Given the description of an element on the screen output the (x, y) to click on. 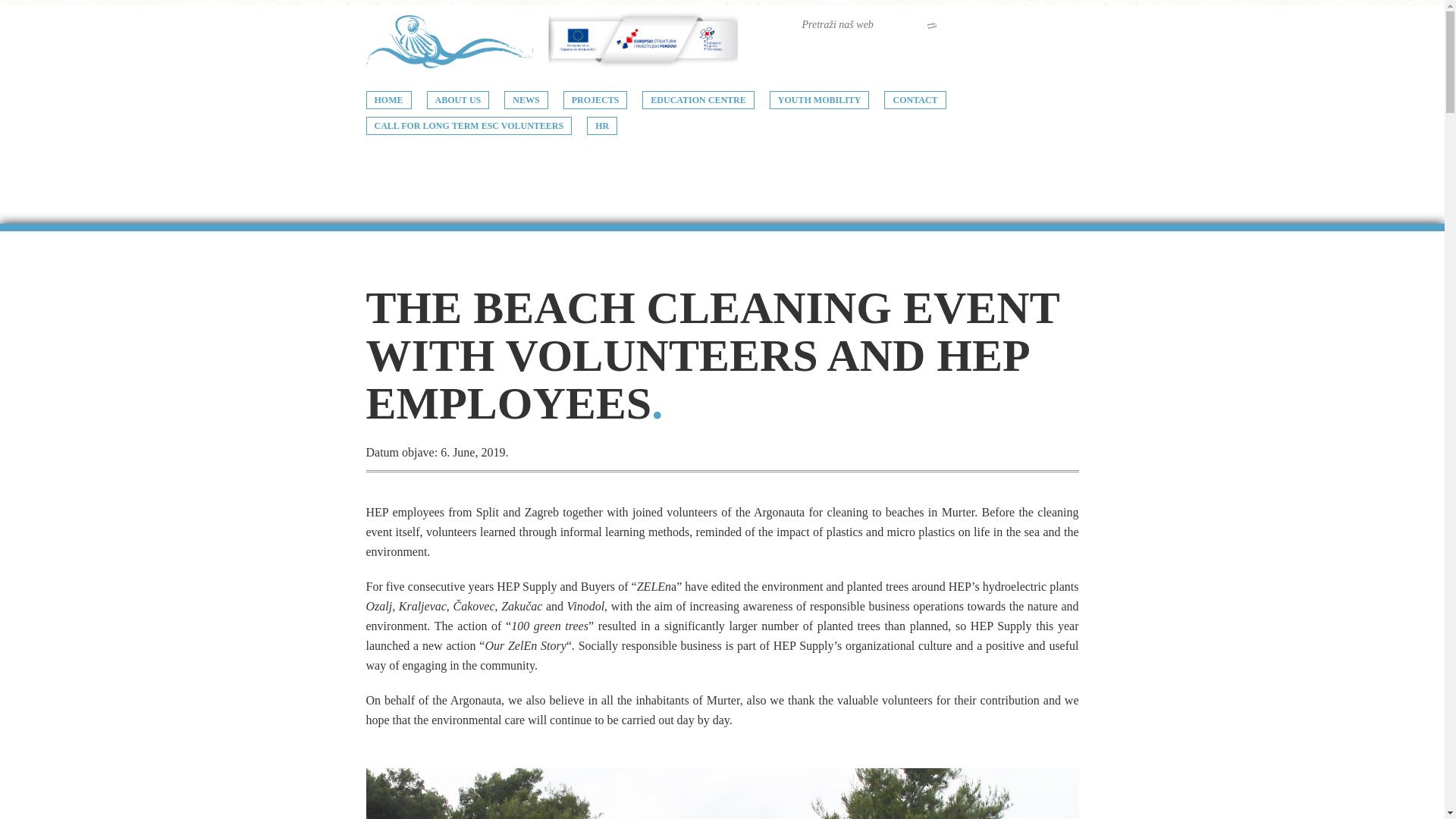
HOME (387, 99)
ABOUT US (457, 99)
NEWS (525, 99)
